Given the description of an element on the screen output the (x, y) to click on. 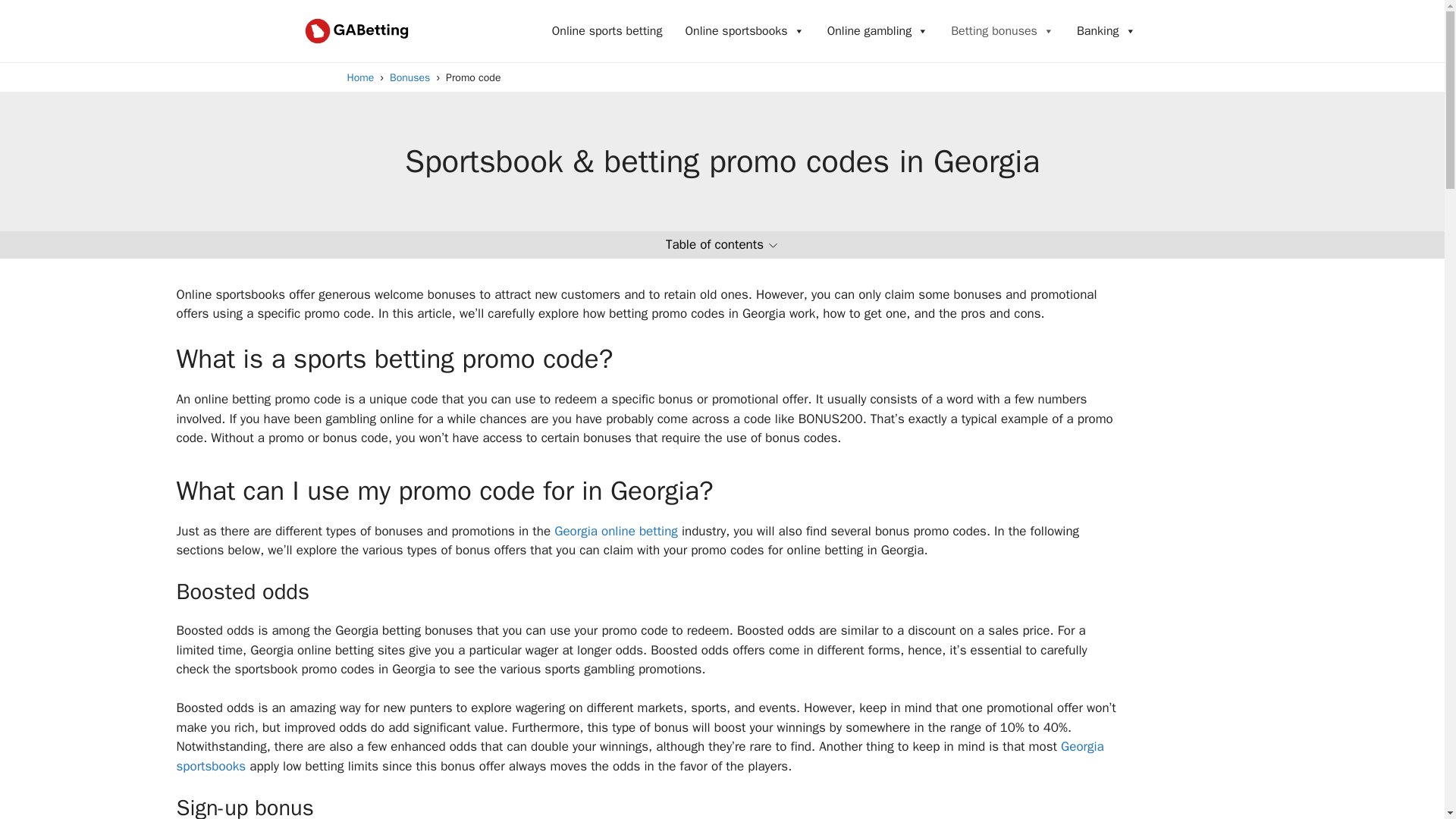
Betting bonuses (1002, 30)
GA Betting (353, 30)
Online gambling (877, 30)
GA Betting (353, 29)
Go to GA Betting. (360, 77)
Go to Bonuses. (409, 77)
Banking (1106, 30)
Online sportsbooks (743, 30)
Bonuses (409, 77)
Online sports betting (607, 30)
Home (360, 77)
